Given the description of an element on the screen output the (x, y) to click on. 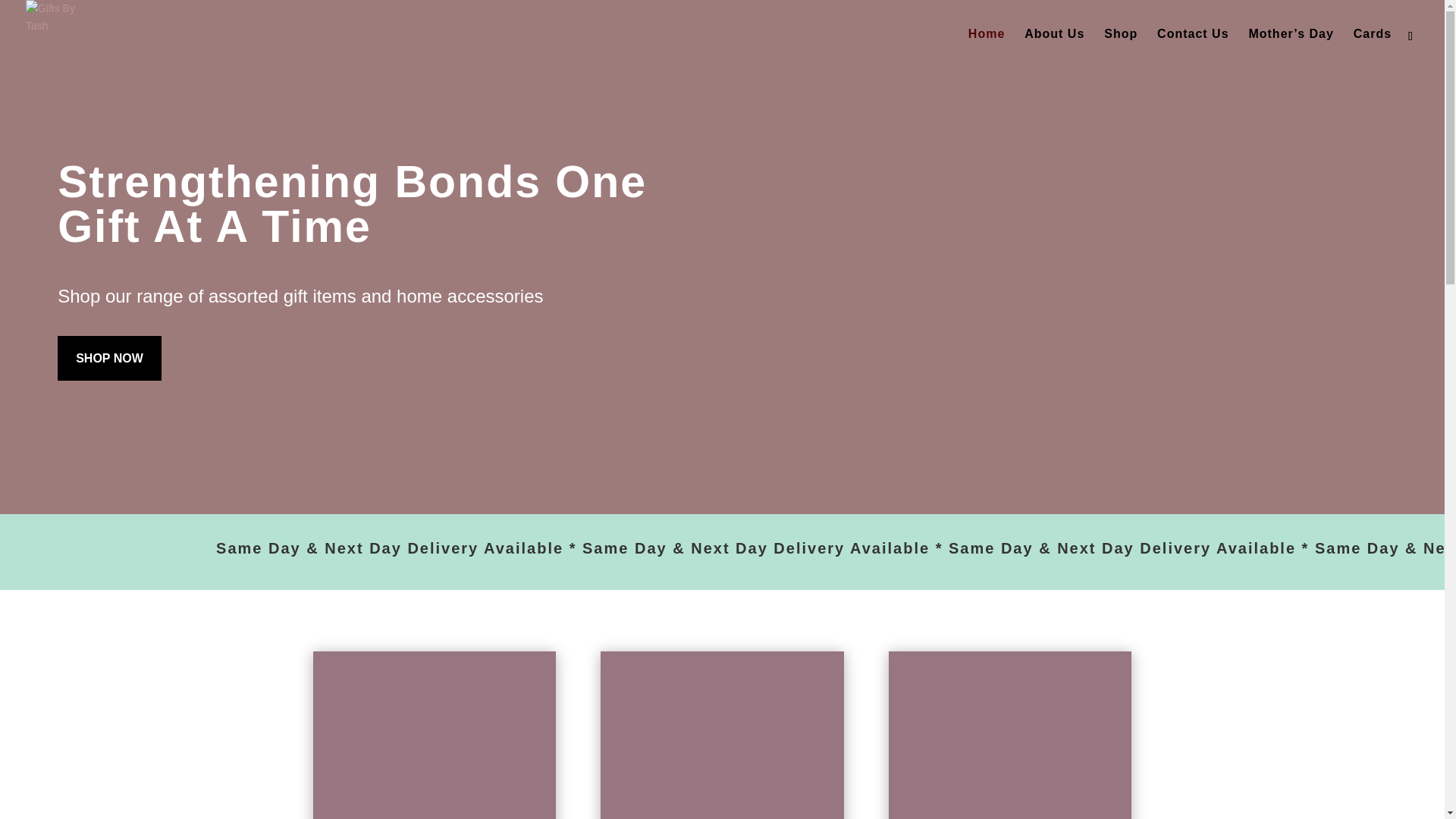
Cards (1372, 47)
About Us (1054, 47)
Contact Us (1192, 47)
SHOP NOW (109, 357)
Home (986, 47)
